Given the description of an element on the screen output the (x, y) to click on. 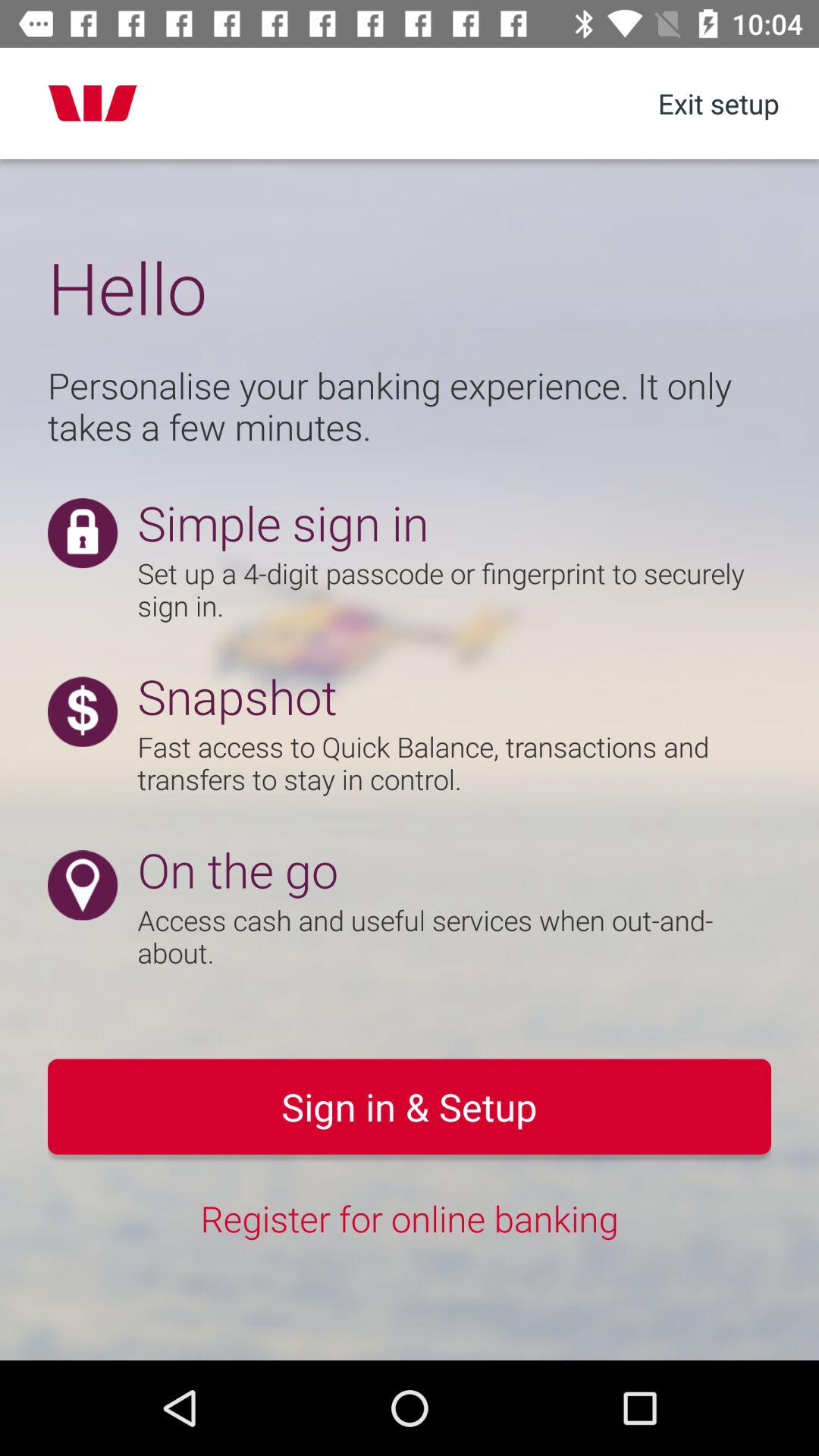
turn off the exit setup icon (718, 103)
